Given the description of an element on the screen output the (x, y) to click on. 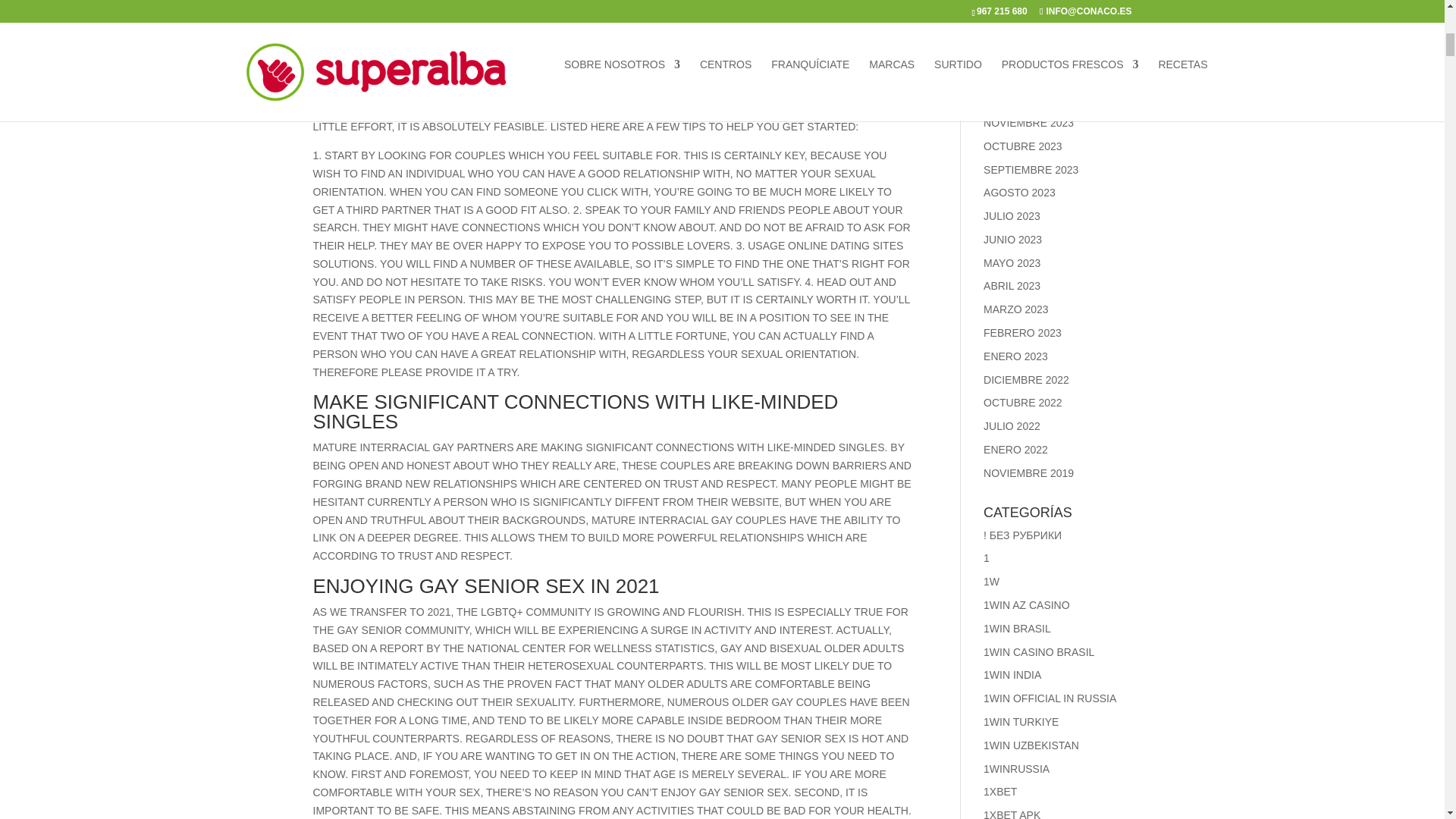
NOVIEMBRE 2023 (1029, 122)
JULIO 2023 (1012, 215)
OCTUBRE 2023 (1022, 146)
DICIEMBRE 2023 (1026, 99)
ENERO 2024 (1016, 75)
MARZO 2024 (1016, 29)
FEBRERO 2024 (1022, 52)
ABRIL 2024 (1012, 6)
SEPTIEMBRE 2023 (1031, 169)
AGOSTO 2023 (1019, 192)
